Given the description of an element on the screen output the (x, y) to click on. 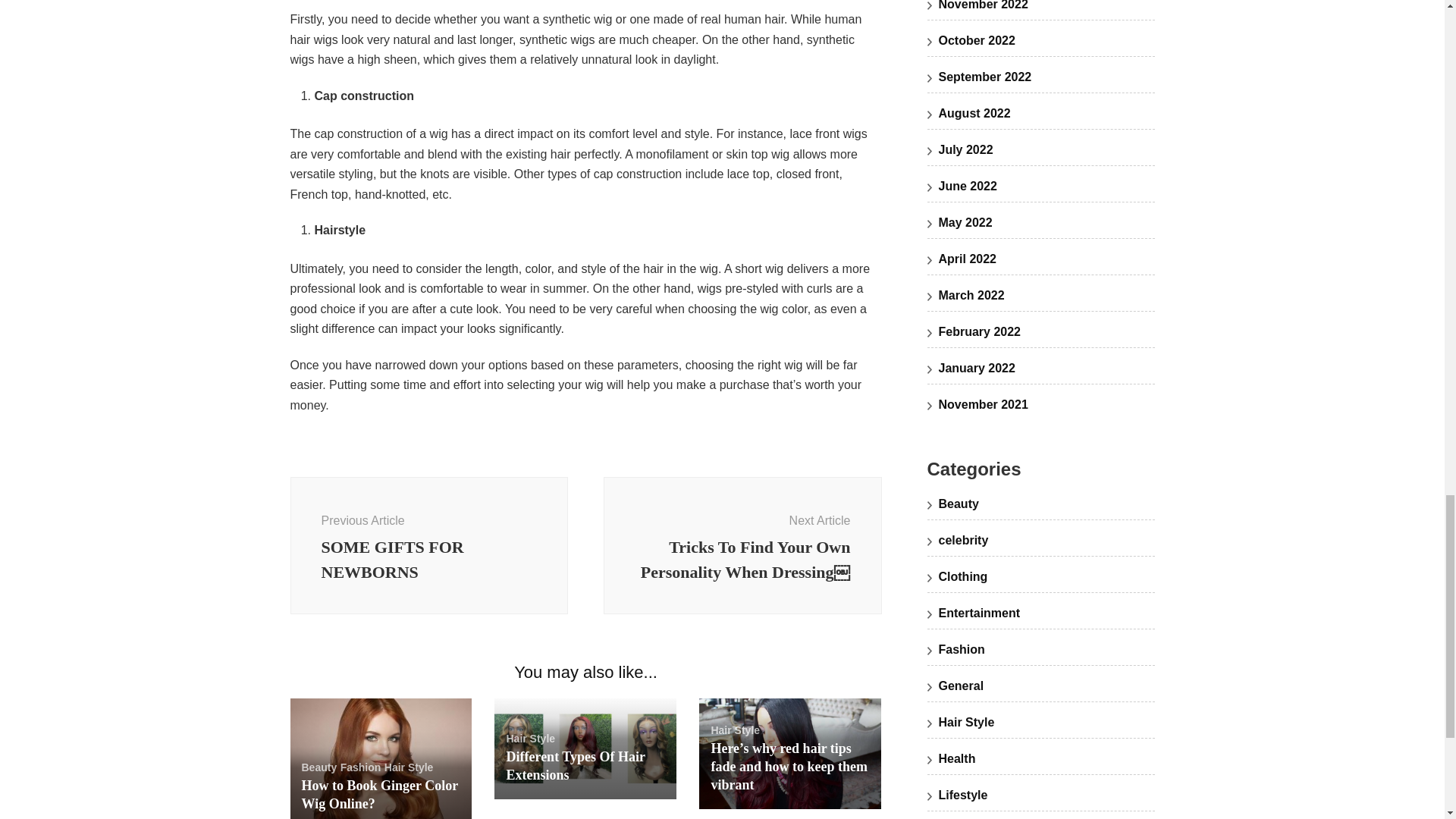
Hair Style (529, 738)
Different Types Of Hair Extensions (575, 765)
Hair Style (408, 767)
Hair Style (735, 729)
Beauty (319, 767)
How to Book Ginger Color Wig Online? (428, 545)
Fashion (379, 794)
